Given the description of an element on the screen output the (x, y) to click on. 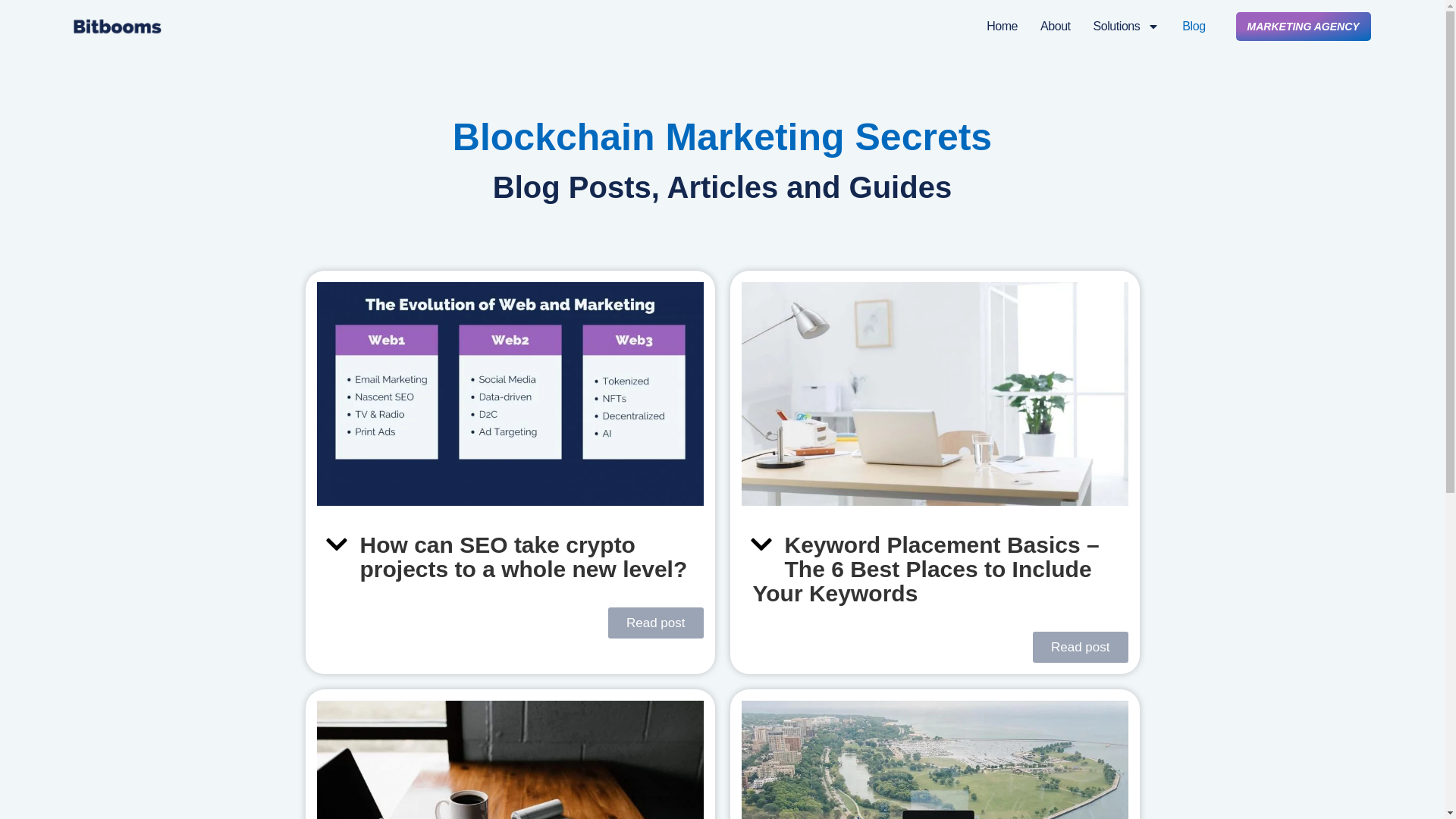
Read post (655, 622)
Read post (1080, 646)
About (1055, 26)
Blog (1193, 26)
How can SEO take crypto projects to a whole new level? (523, 556)
Solutions (1126, 26)
MARKETING AGENCY (1303, 26)
the-evolution-of-internet-and-web3-marketing (510, 393)
Home (1002, 26)
